Given the description of an element on the screen output the (x, y) to click on. 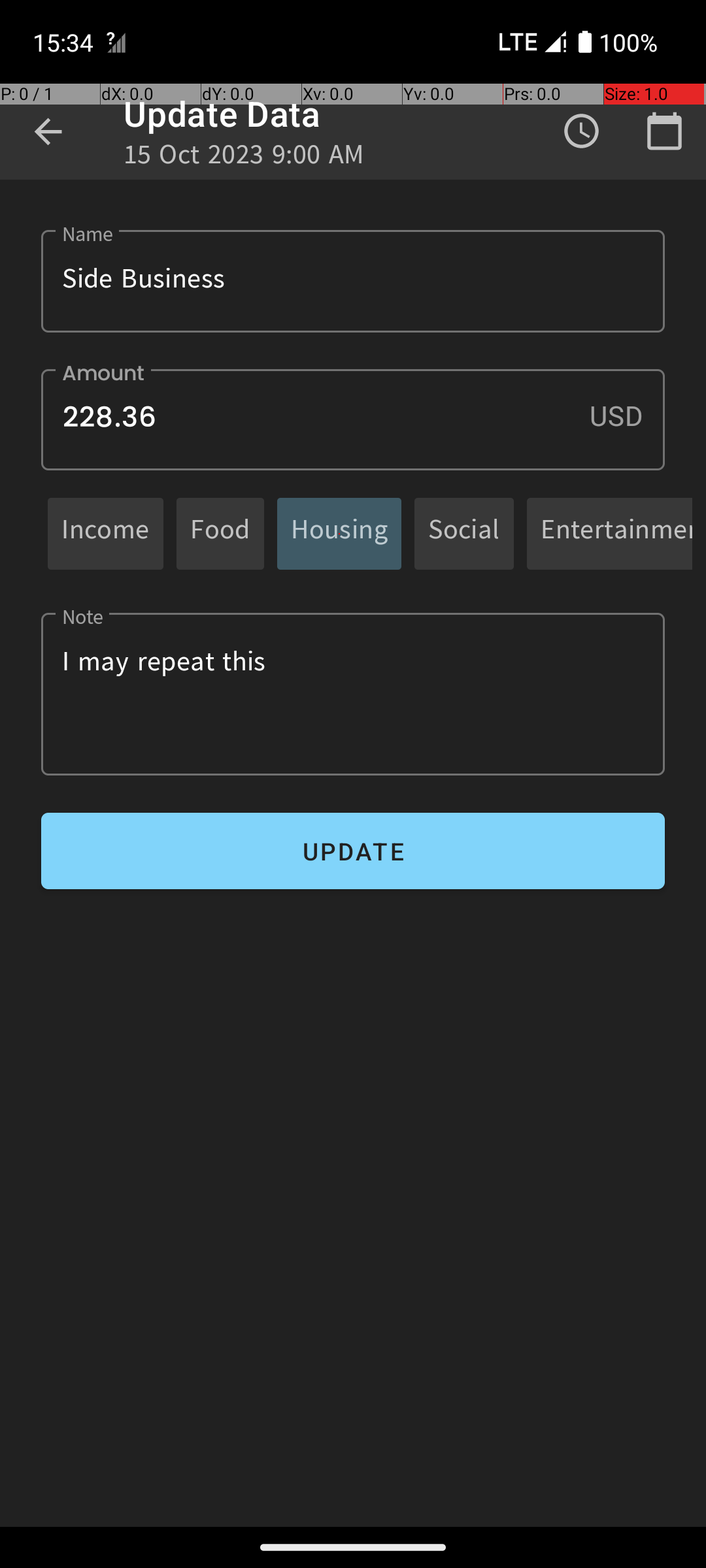
15 Oct 2023 9:00 AM Element type: android.widget.TextView (243, 157)
Side Business Element type: android.widget.EditText (352, 280)
228.36 Element type: android.widget.EditText (352, 419)
